Given the description of an element on the screen output the (x, y) to click on. 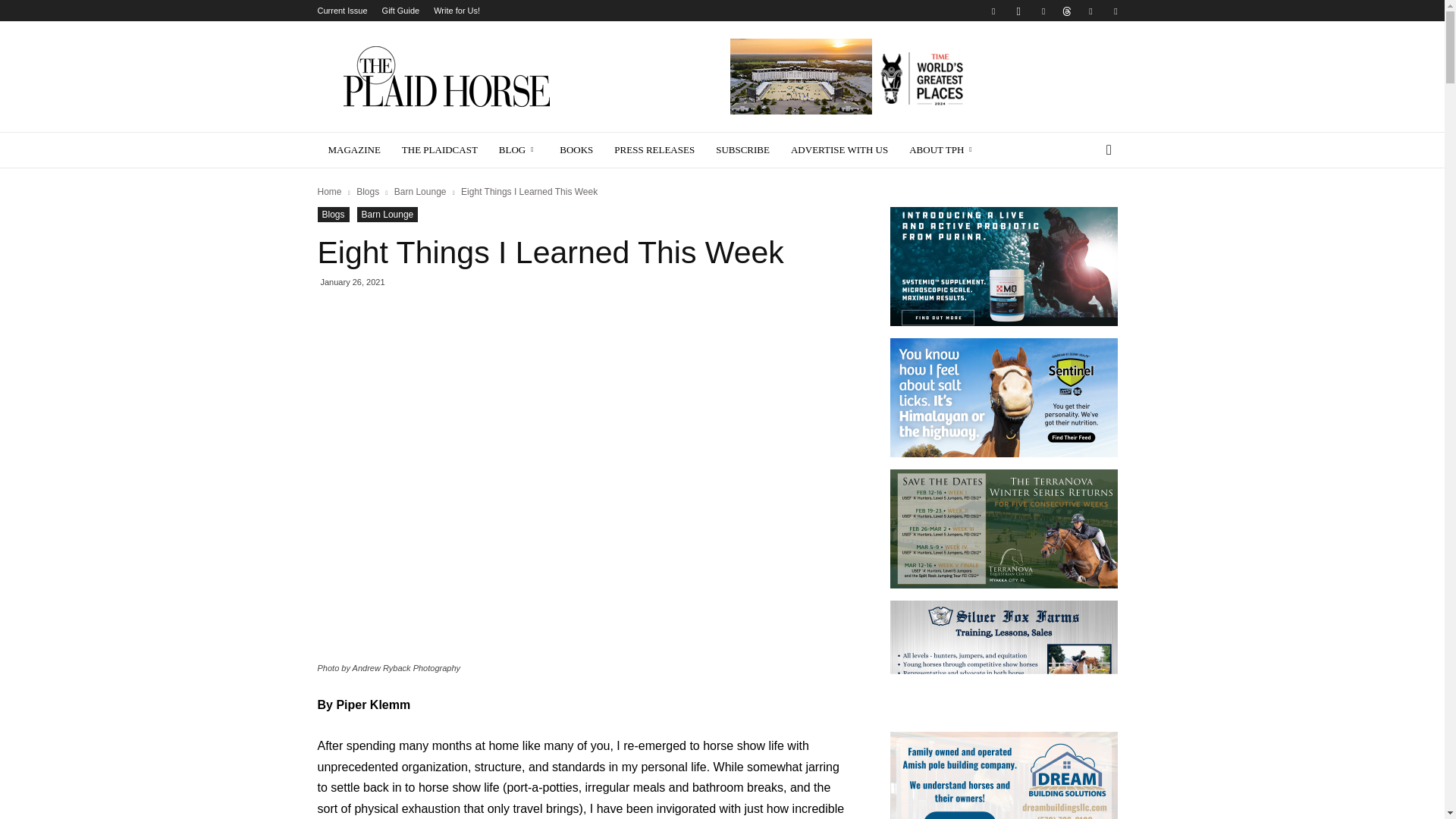
Write for Us! (456, 10)
Threads (1067, 10)
Current Issue (341, 10)
Linkedin (1043, 10)
Facebook (992, 10)
Gift Guide (400, 10)
Pinterest (1090, 10)
TikTok (1114, 10)
Instagram (1018, 10)
